Given the description of an element on the screen output the (x, y) to click on. 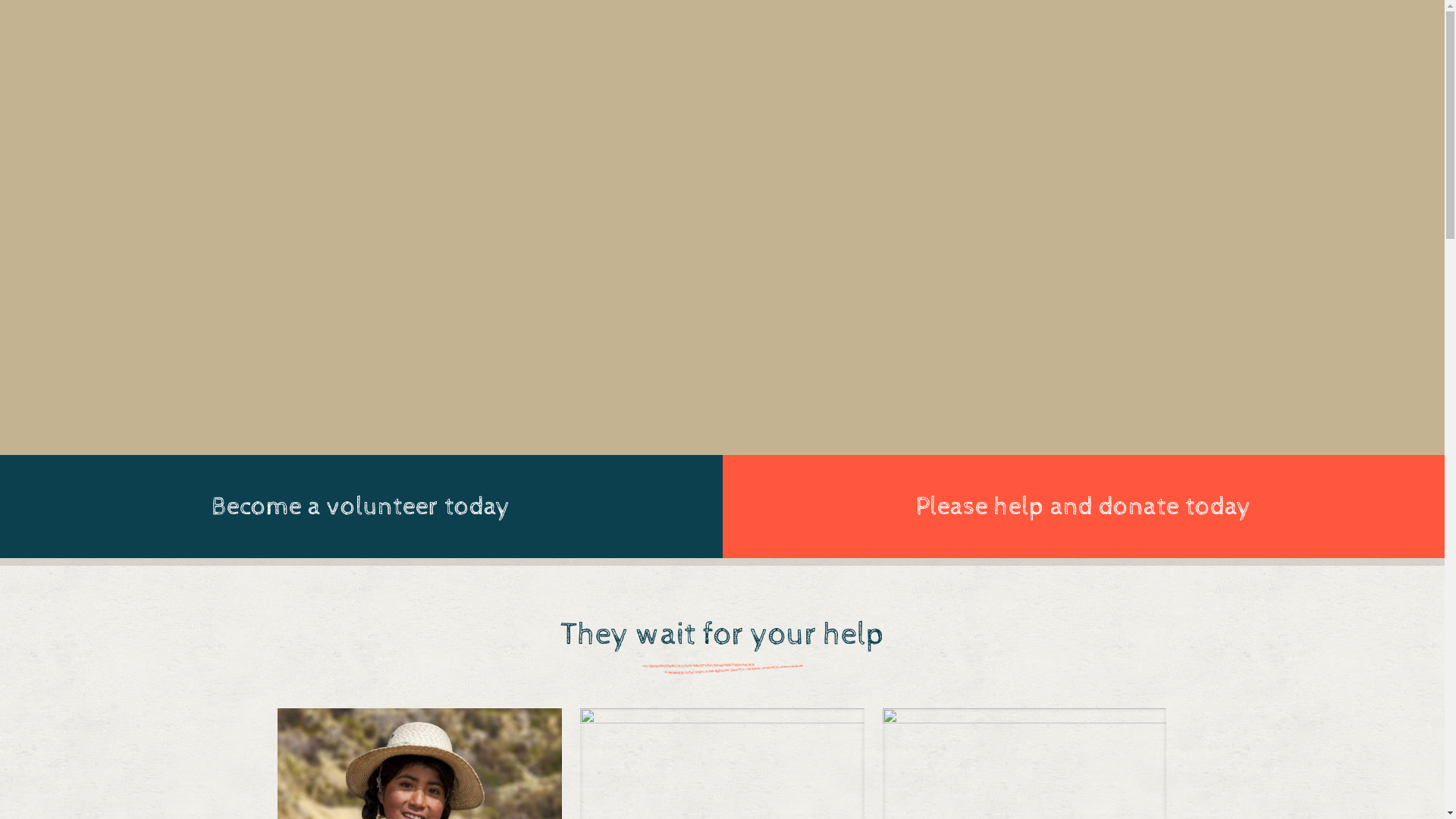
Please help and donate today Element type: text (1082, 506)
Become a volunteer today Element type: text (361, 506)
